Given the description of an element on the screen output the (x, y) to click on. 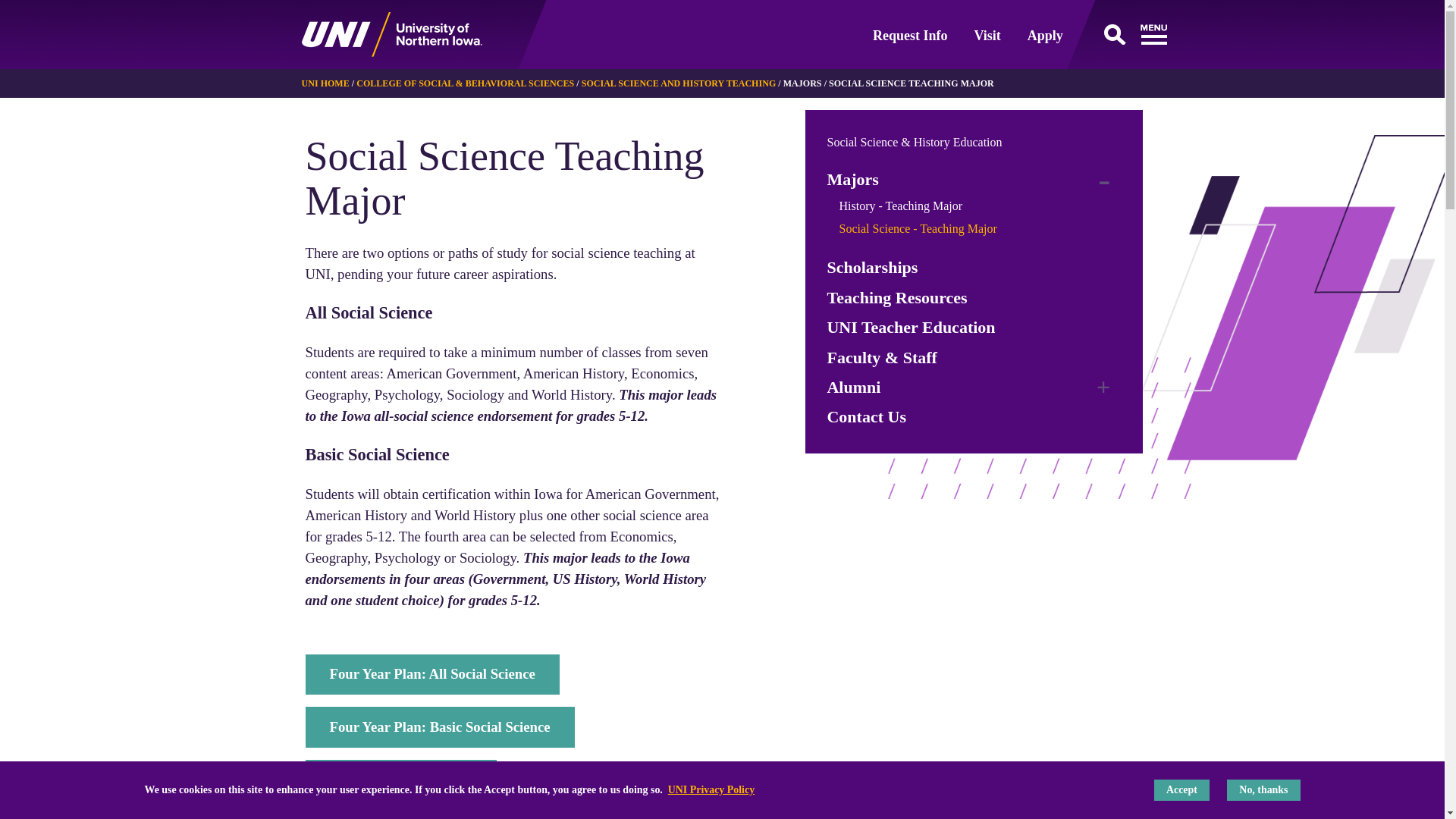
UNI Privacy Policy (711, 789)
No, thanks (1263, 789)
Request Info (909, 35)
Apply (1045, 35)
Visit (986, 35)
Accept (1181, 789)
